Given the description of an element on the screen output the (x, y) to click on. 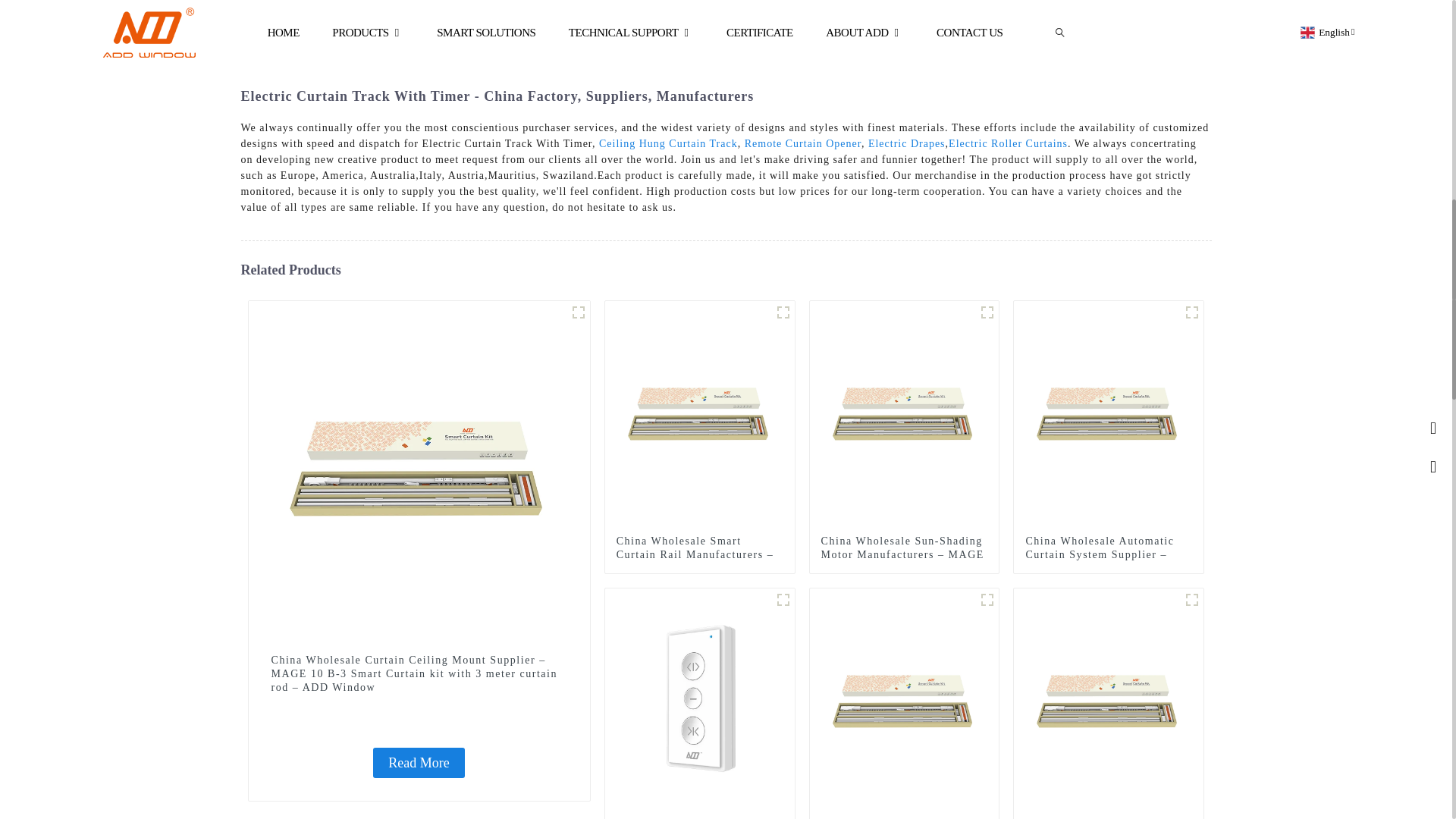
Ceiling Hung Curtain Track (668, 143)
Electric Roller Curtains (1008, 143)
Electric Drapes (905, 143)
Remote Curtain Opener (802, 143)
